Given the description of an element on the screen output the (x, y) to click on. 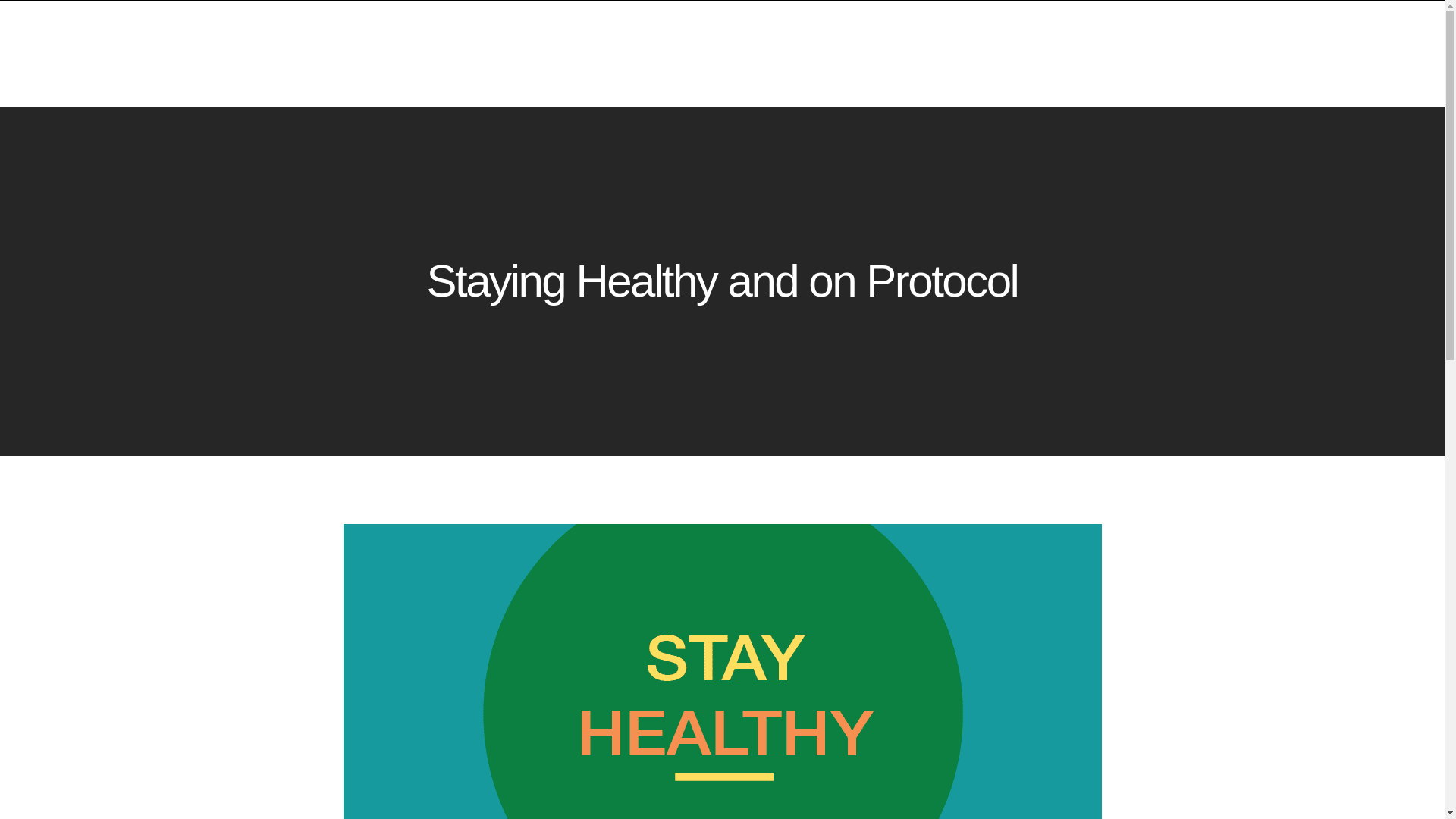
About (1148, 97)
Contact (1213, 97)
Products (992, 97)
Ideal Protein (901, 97)
Home (820, 97)
Locations (1075, 97)
